Given the description of an element on the screen output the (x, y) to click on. 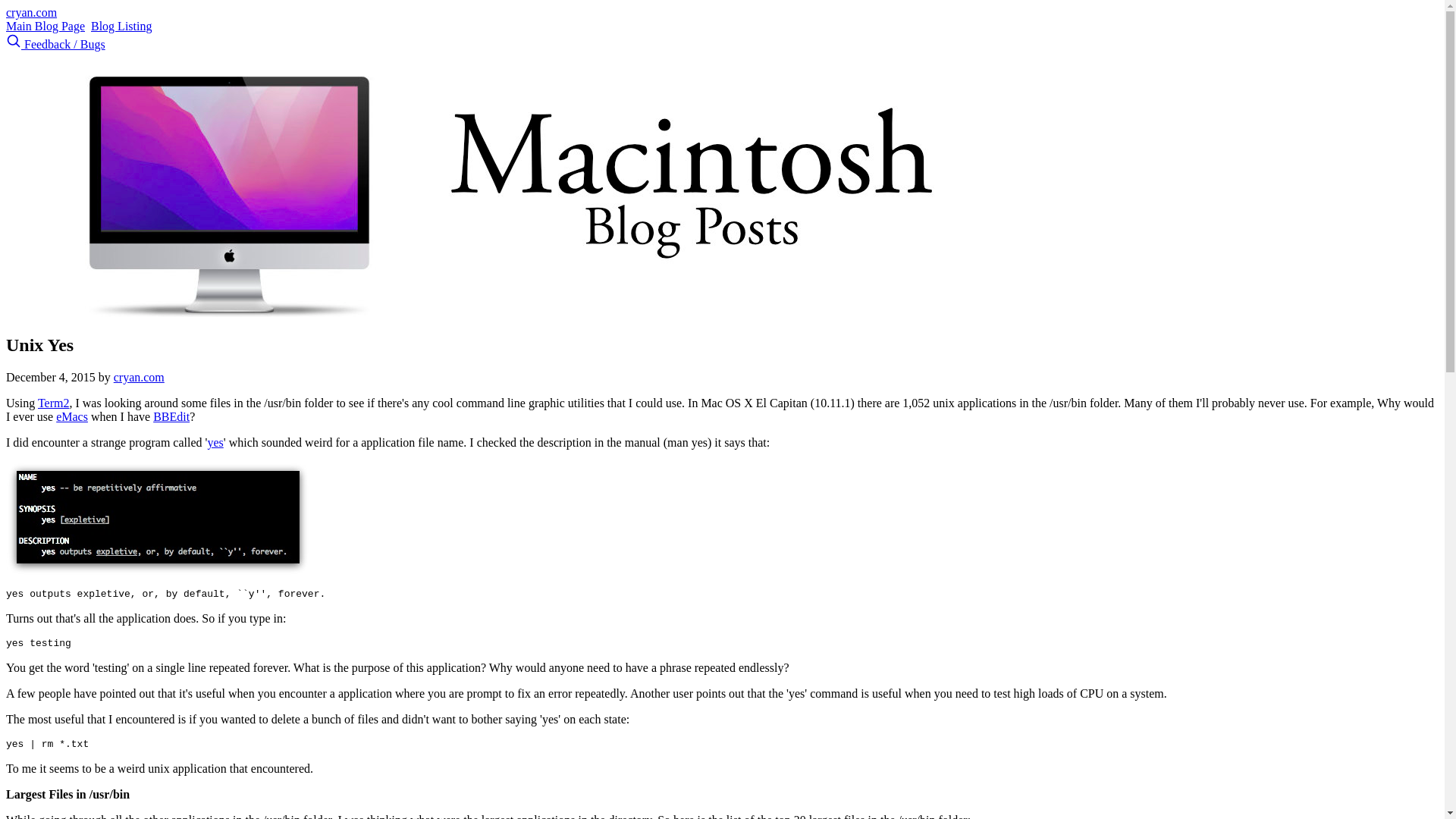
Term2 (53, 402)
cryan.com (30, 11)
yes (214, 441)
BBEdit (170, 416)
Blog Listing (120, 25)
eMacs (71, 416)
Search (14, 43)
cryan.com (138, 377)
Search (13, 40)
Main Blog Page (44, 25)
